Given the description of an element on the screen output the (x, y) to click on. 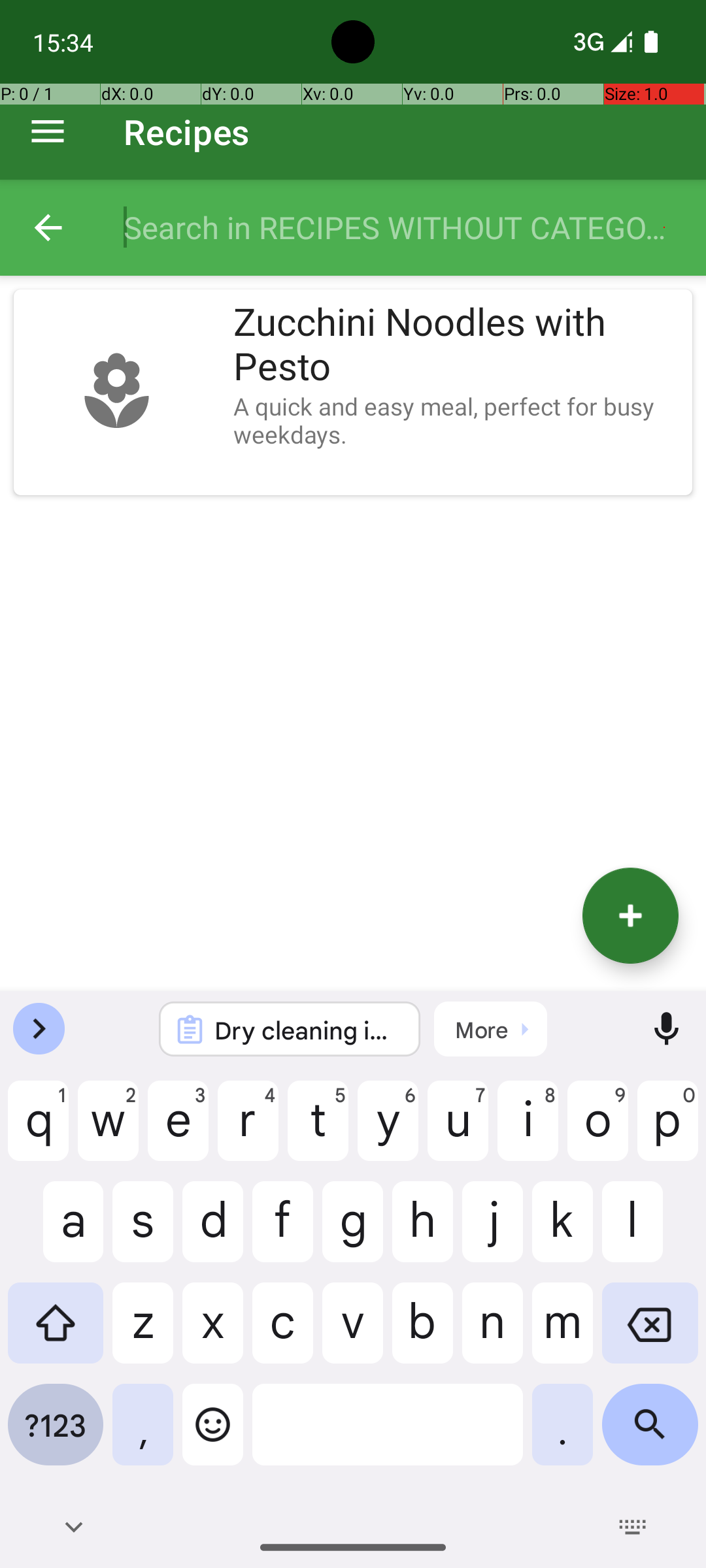
Collapse Element type: android.widget.ImageButton (48, 227)
Search in RECIPES WITHOUT CATEGORY Element type: android.widget.AutoCompleteTextView (400, 227)
Zucchini Noodles with Pesto Element type: android.widget.TextView (455, 344)
Dry cleaning is ready for pick-up. Element type: android.widget.TextView (306, 1029)
